Given the description of an element on the screen output the (x, y) to click on. 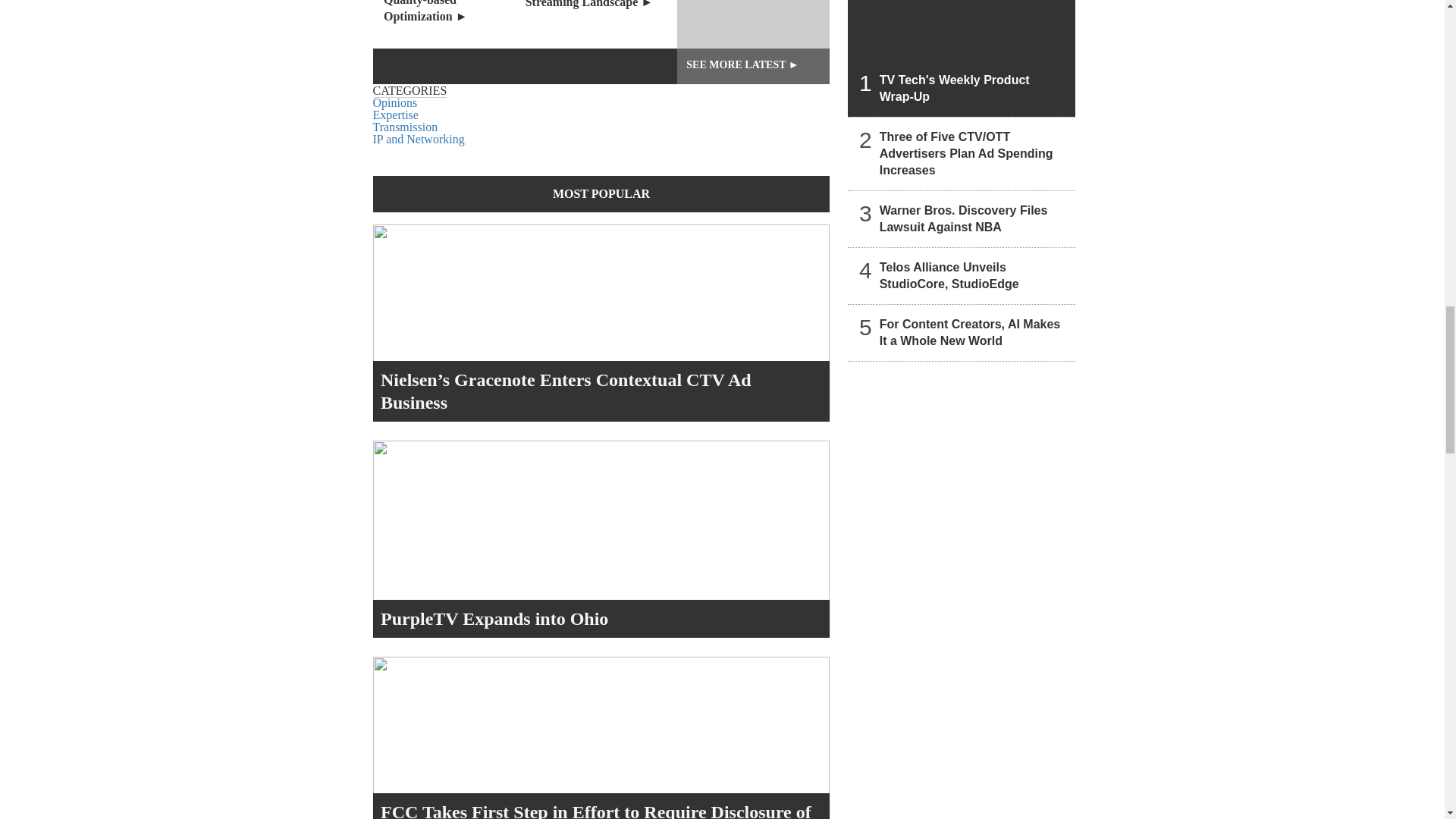
Transmission (405, 126)
Expertise (395, 114)
Opinions (394, 102)
TV Tech's Weekly Product Wrap-Up (753, 24)
IP and Networking (418, 138)
TV Tech's Weekly Product Wrap-Up  (961, 58)
